Given the description of an element on the screen output the (x, y) to click on. 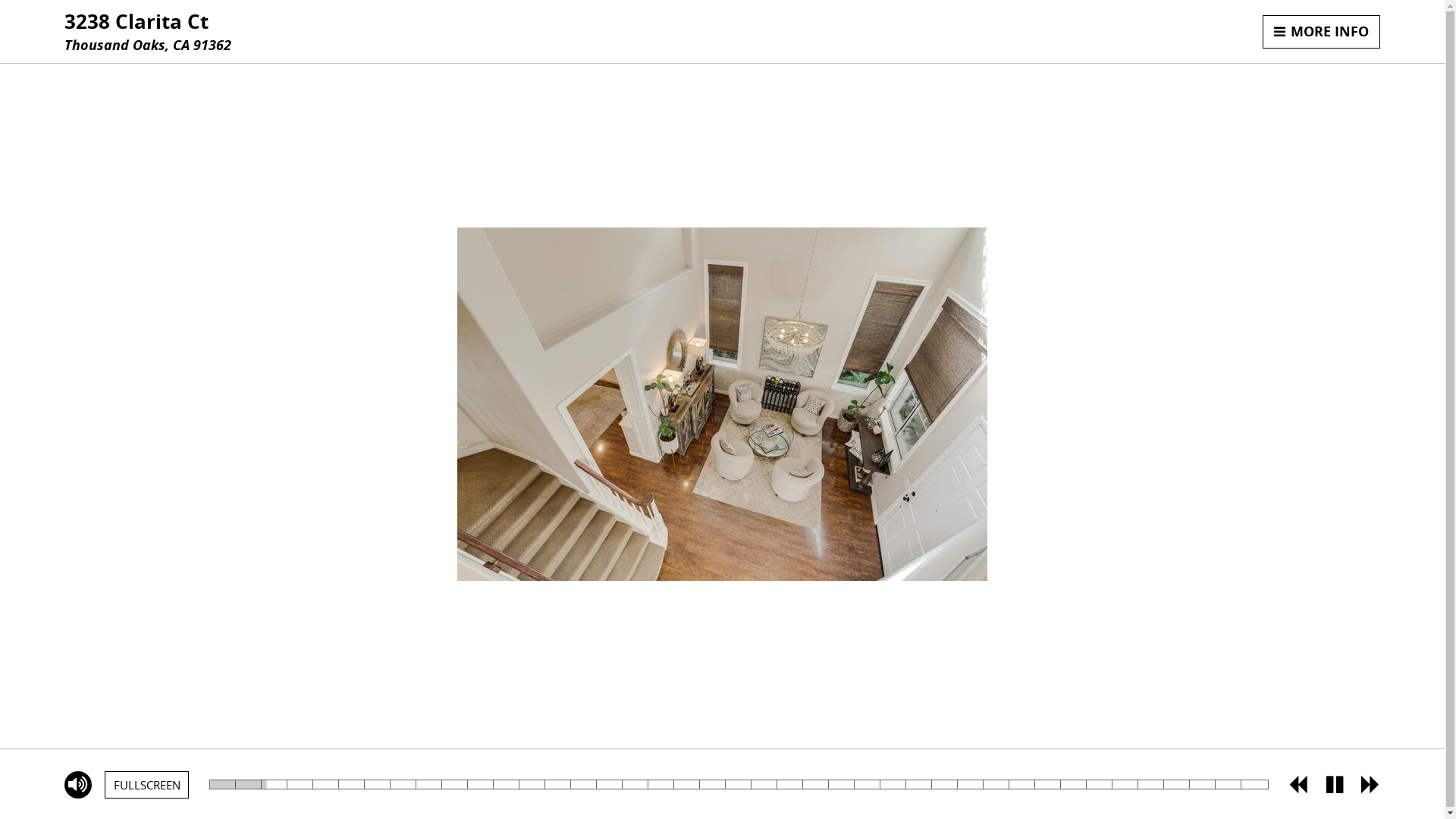
MORE INFO Element type: text (1321, 31)
